Given the description of an element on the screen output the (x, y) to click on. 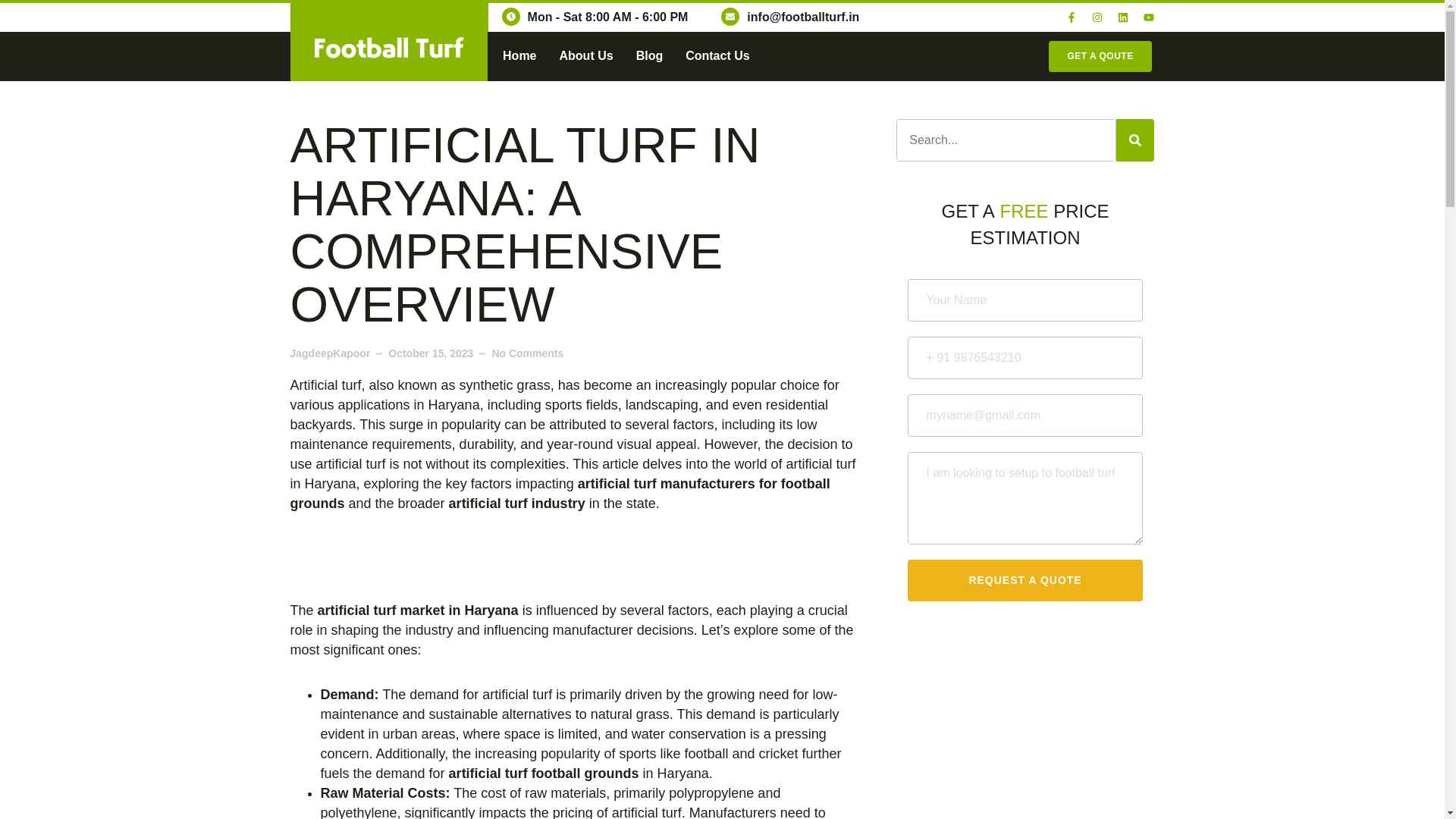
JagdeepKapoor (329, 353)
REQUEST A QUOTE (1024, 580)
Blog (649, 55)
No Comments (527, 353)
GET A QOUTE (1099, 55)
October 15, 2023 (430, 353)
Contact Us (717, 55)
About Us (585, 55)
Home (518, 55)
